Given the description of an element on the screen output the (x, y) to click on. 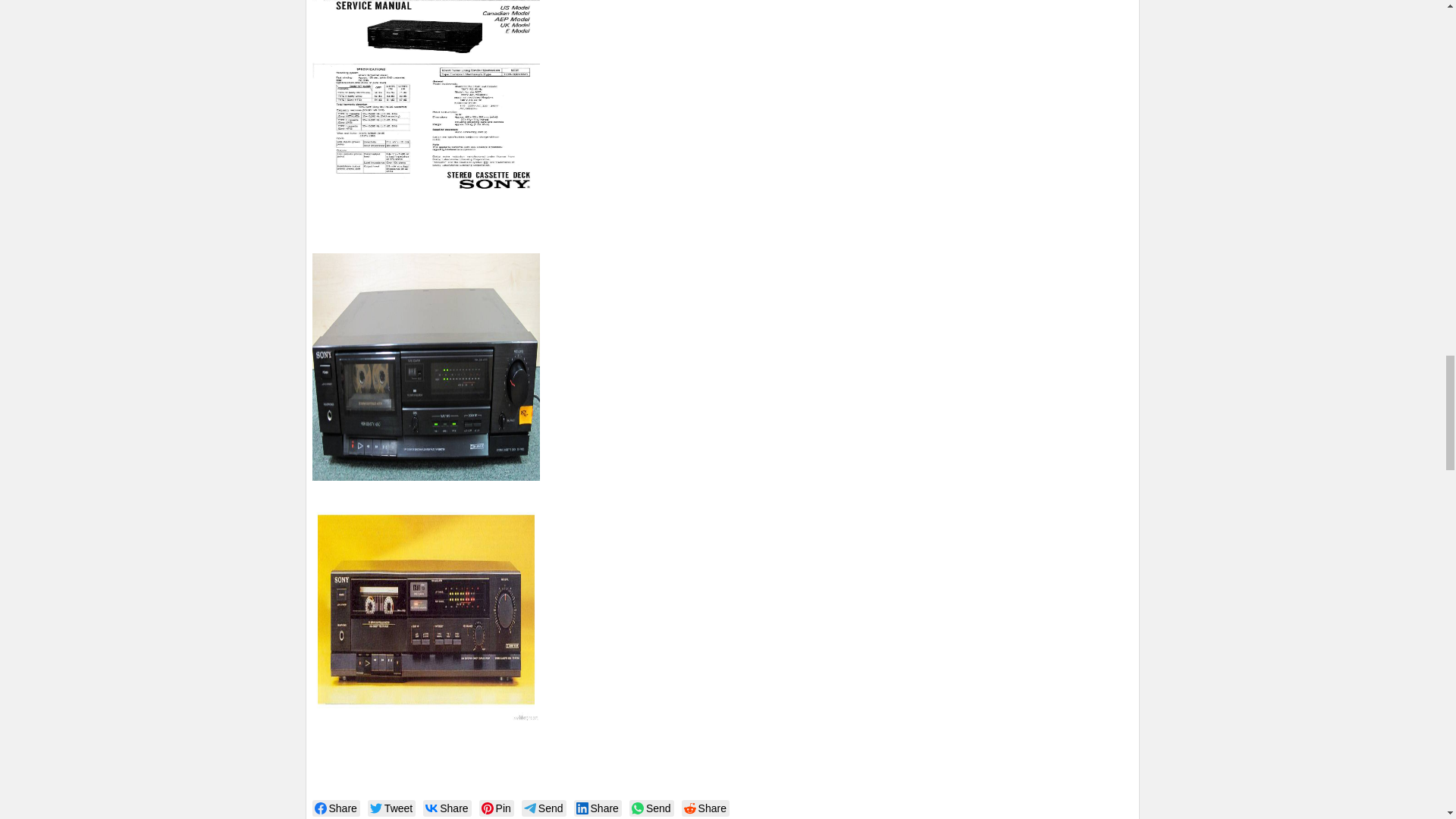
Sony TC-FX120 (426, 366)
Sony TC-FX120 (426, 101)
Sony TC-FX120 (426, 609)
